Given the description of an element on the screen output the (x, y) to click on. 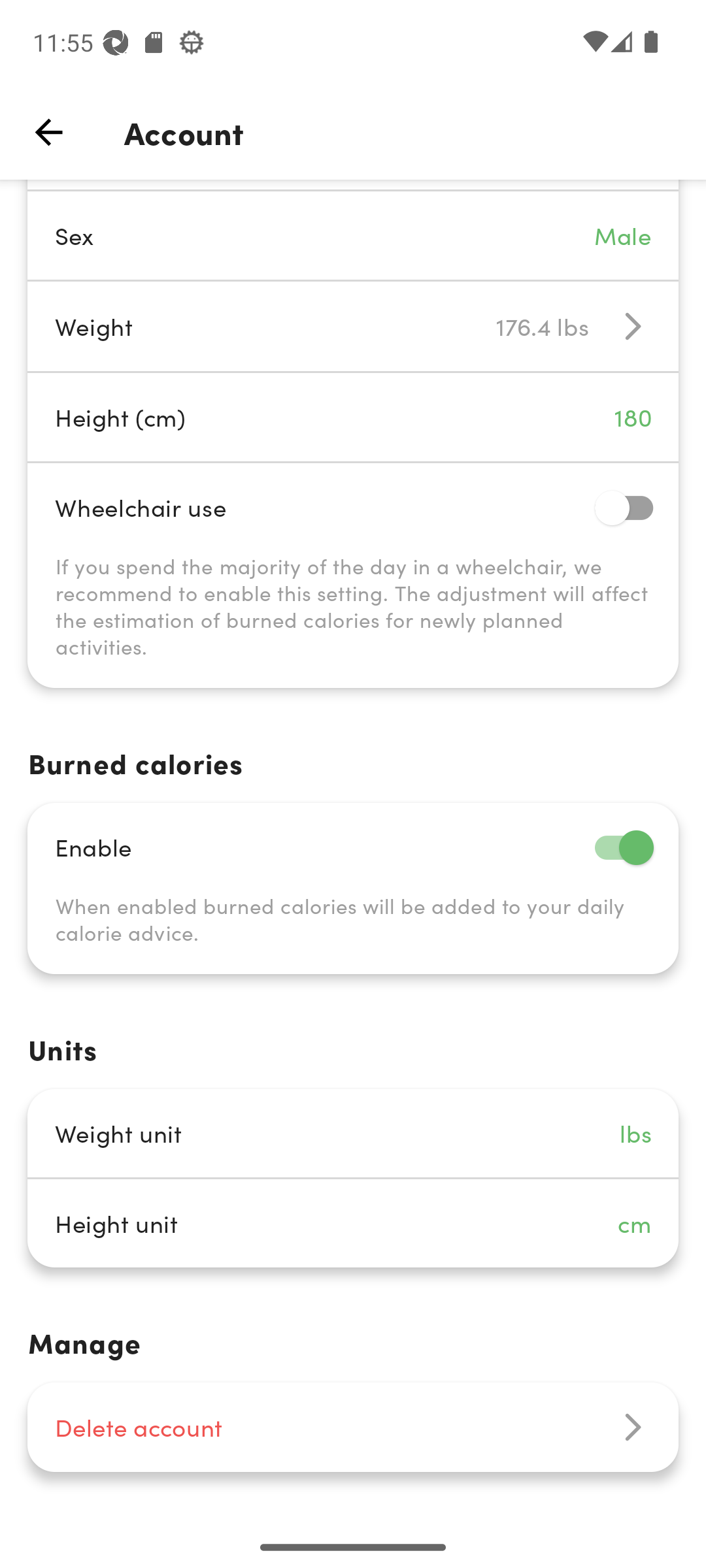
top_left_action (48, 132)
Sex Male (352, 235)
Weight 176.4 lbs (352, 326)
Height (cm) 180 (352, 416)
Wheelchair use (352, 506)
Enable (352, 846)
Weight unit lbs (352, 1133)
Height unit cm (352, 1222)
Delete account (352, 1427)
